Given the description of an element on the screen output the (x, y) to click on. 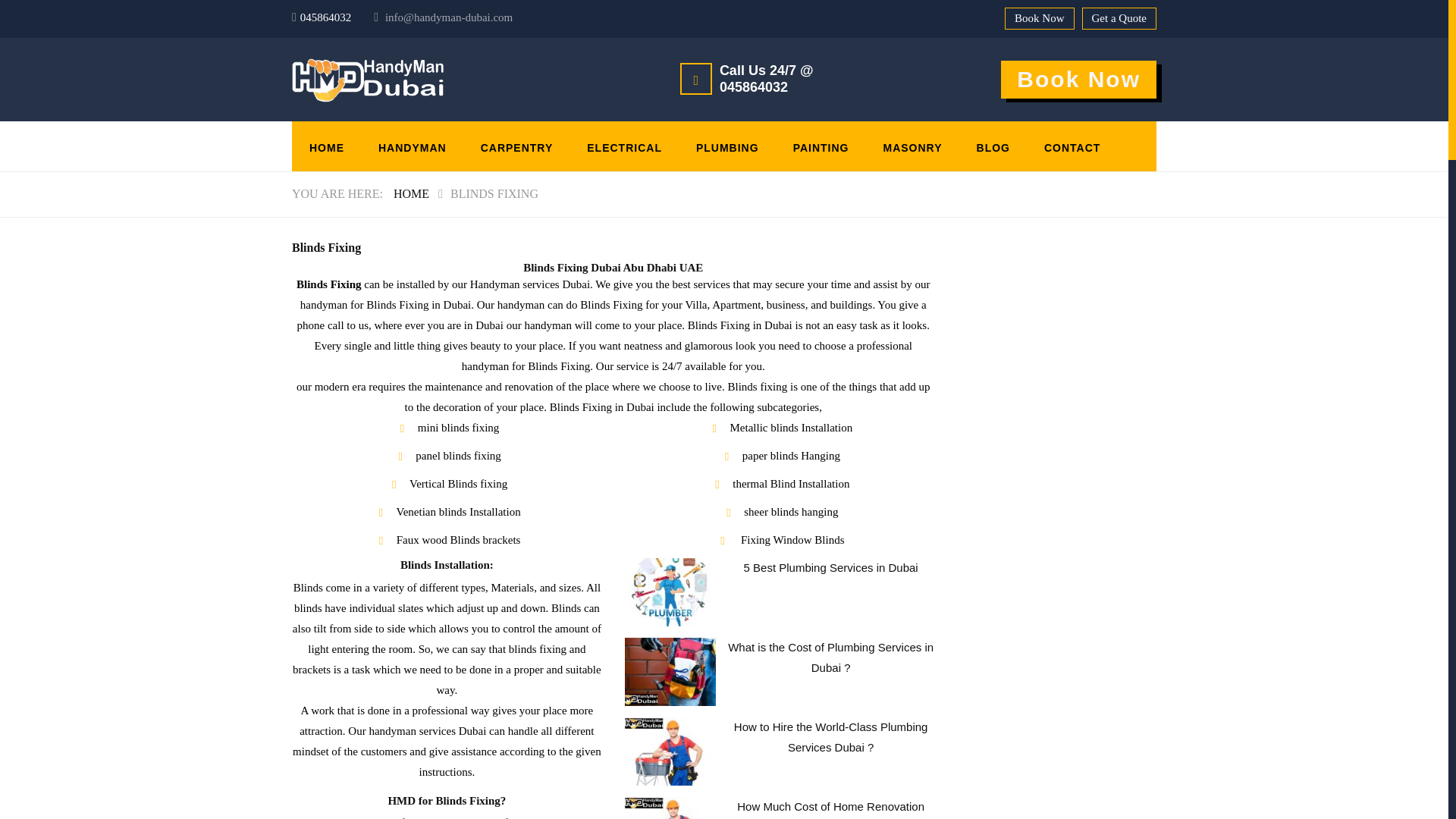
HANDYMAN (412, 146)
CARPENTRY (517, 146)
PLUMBING (727, 146)
Book Now (1078, 79)
ELECTRICAL (624, 146)
Book Now (1039, 18)
Get a Quote (1118, 18)
045864032 (753, 87)
045864032 (325, 17)
HOME (326, 146)
